Given the description of an element on the screen output the (x, y) to click on. 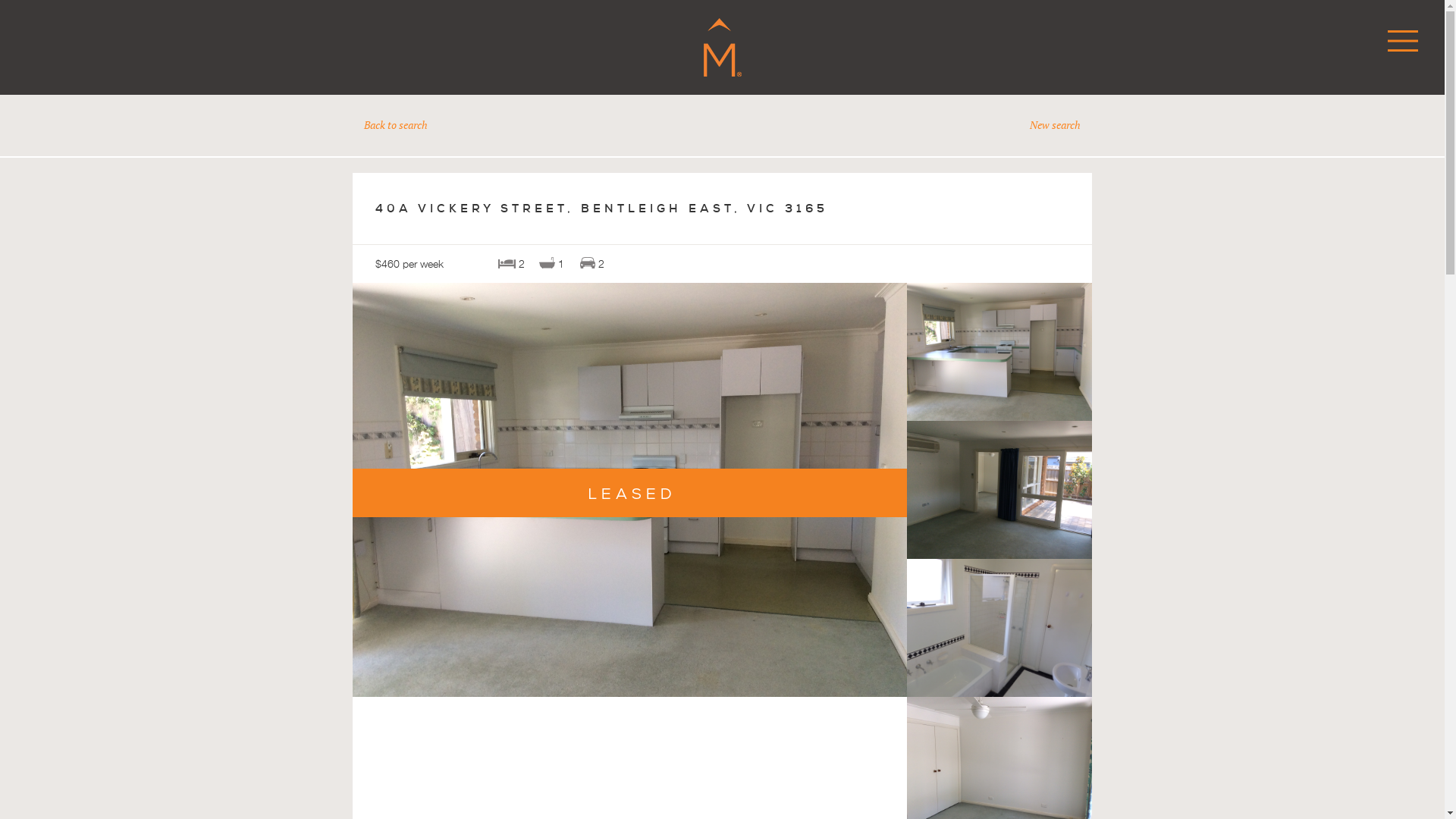
Back to search Element type: text (395, 124)
New search Element type: text (1054, 124)
